Given the description of an element on the screen output the (x, y) to click on. 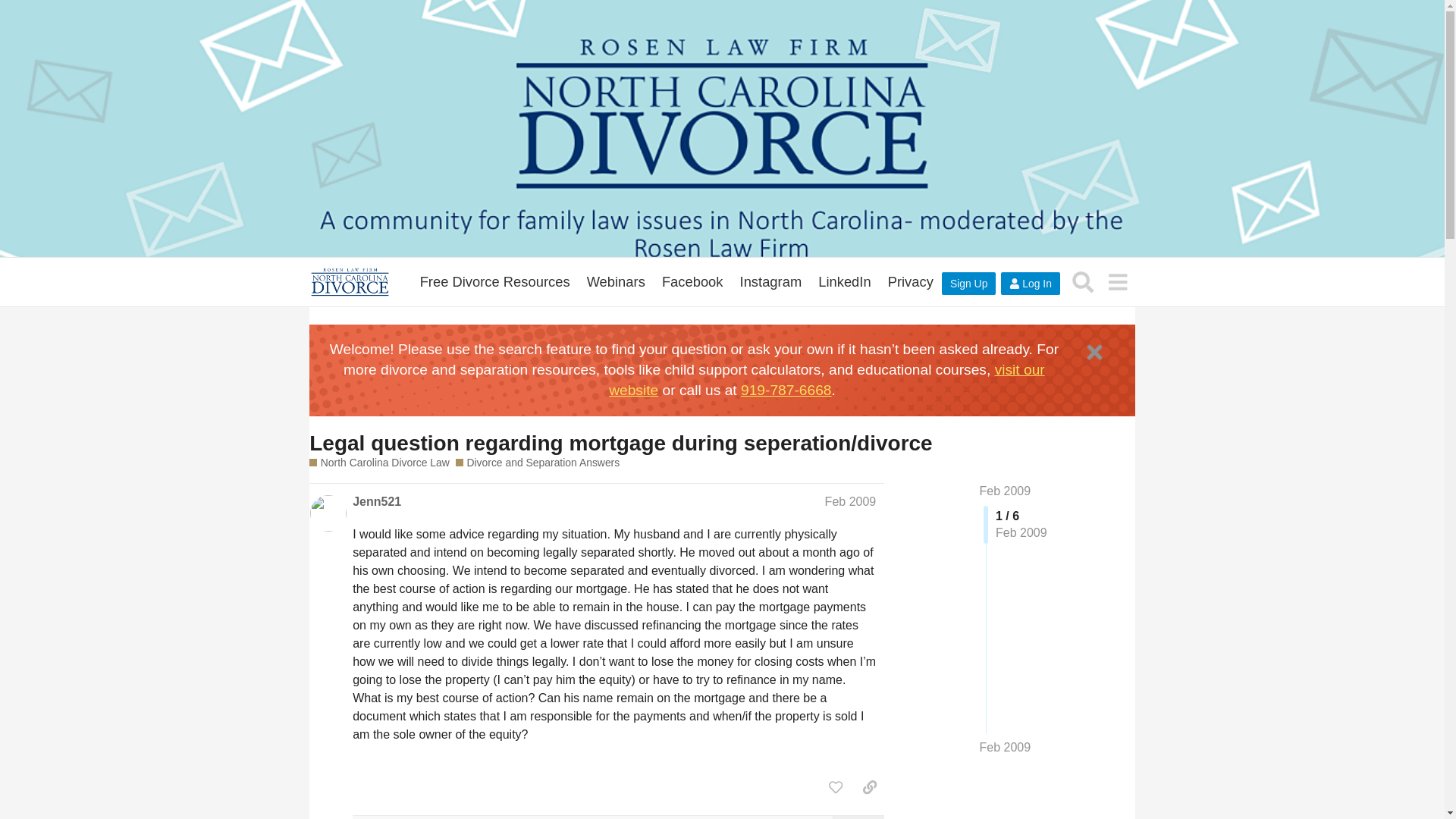
Our Privacy Policy (910, 281)
Search (1082, 281)
Feb 2009 (1004, 490)
Feb 2009 (850, 501)
Jump to the last post (1004, 747)
Webinars (615, 281)
Rosen.com (495, 281)
Jenn521 (376, 501)
Facebook Page (692, 281)
Upcoming Webinars (615, 281)
LinkedIn (844, 281)
Sign Up (968, 282)
visit our website (826, 379)
Instagram (771, 281)
LinkedIn Page (844, 281)
